Given the description of an element on the screen output the (x, y) to click on. 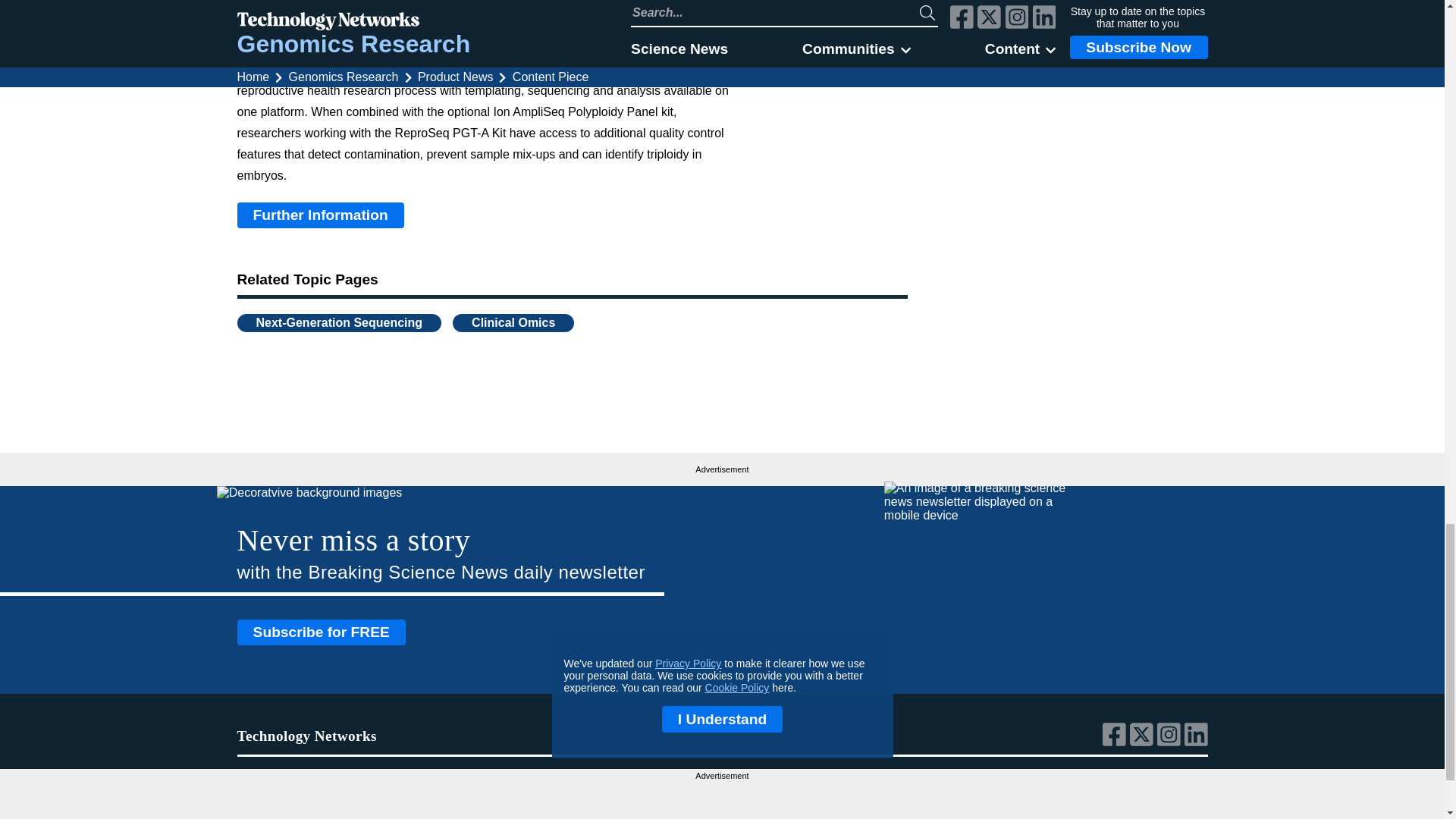
Link to Technology Networks' instagram page (1171, 742)
Link to Technology Networks' facebook page (1115, 742)
Link to Technology Networks' linkedin page (1196, 742)
Link to Technology Networks' twitter page (1143, 742)
